Given the description of an element on the screen output the (x, y) to click on. 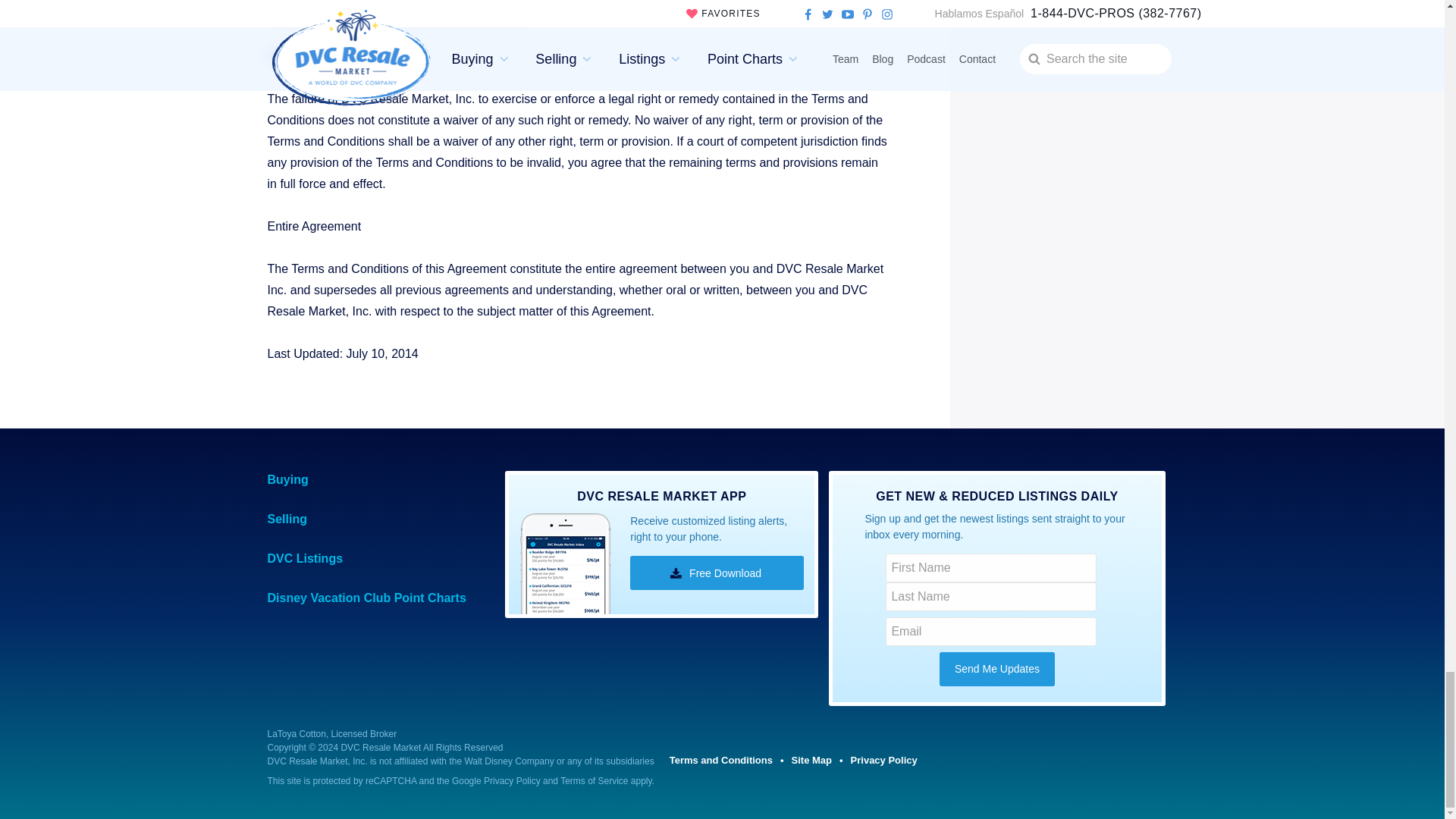
Send Me Updates (996, 668)
